Given the description of an element on the screen output the (x, y) to click on. 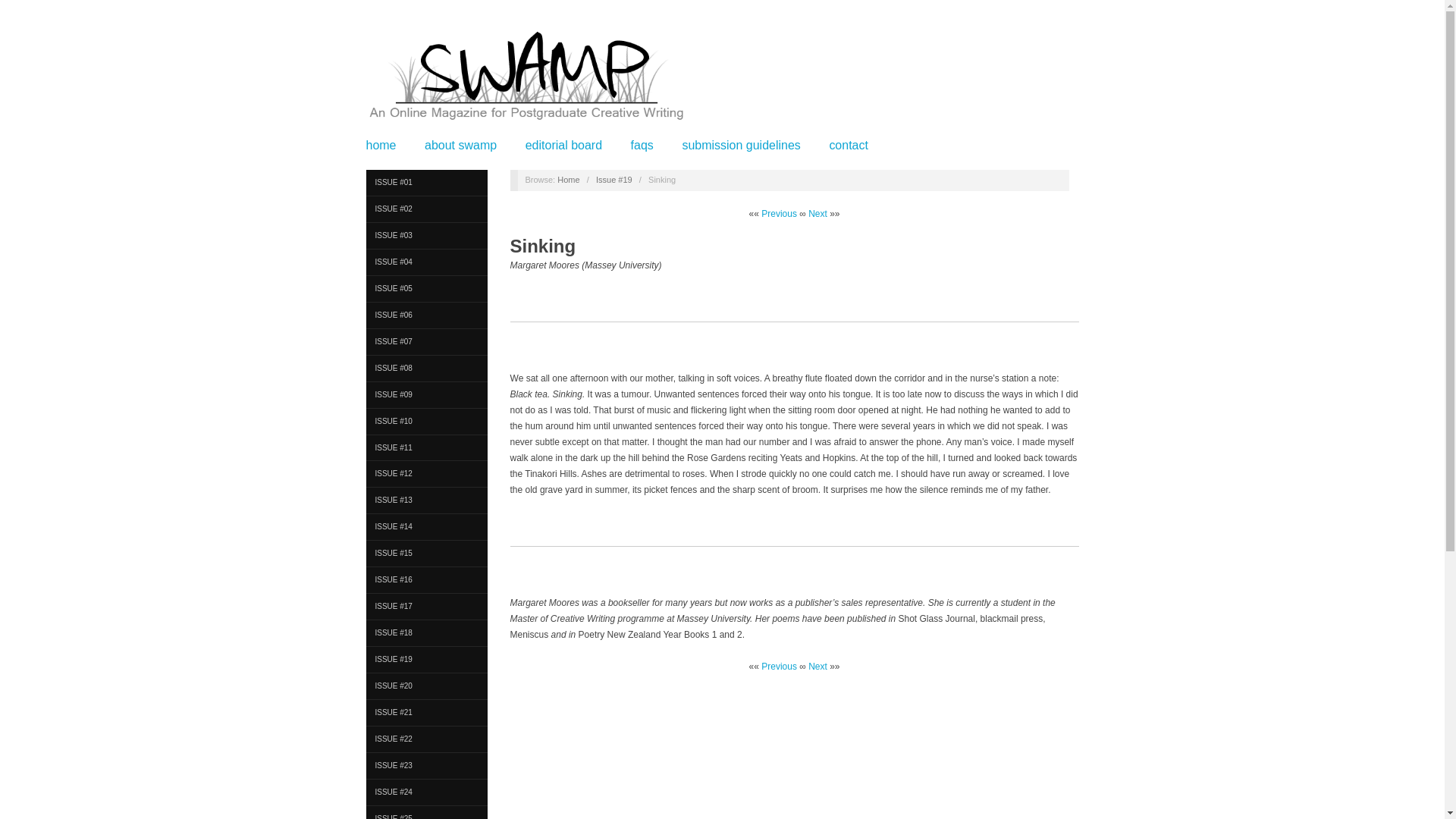
contact (847, 145)
SWAMP (525, 81)
editorial board (563, 145)
home (380, 145)
SWAMP (568, 179)
faqs (641, 145)
about swamp (460, 145)
submission guidelines (740, 145)
Home (568, 179)
